Given the description of an element on the screen output the (x, y) to click on. 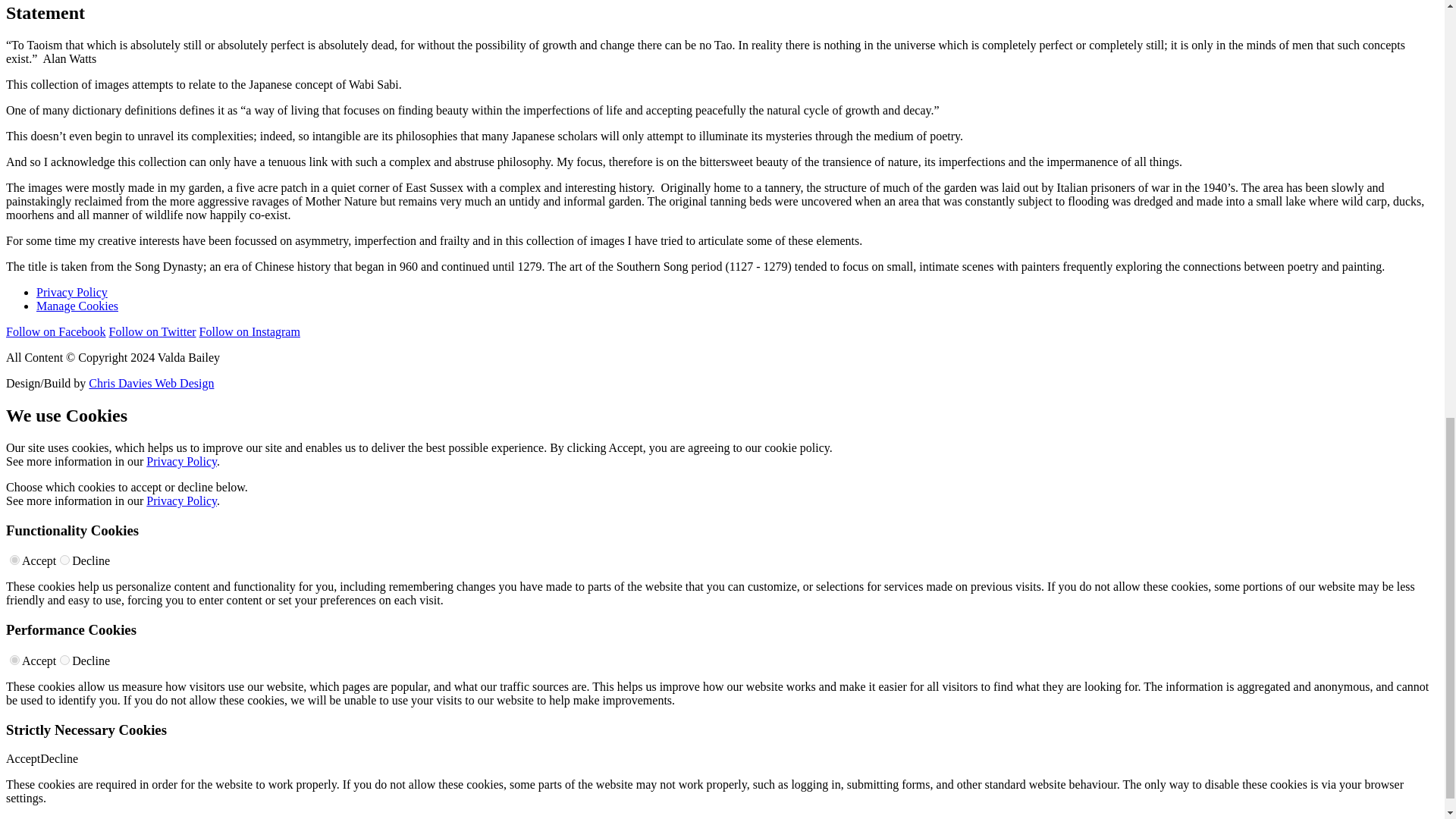
Follow on Twitter (152, 331)
Privacy Policy (181, 461)
Chris Davies Web Design (151, 382)
Privacy Policy (181, 500)
n (64, 660)
y (15, 660)
y (15, 560)
n (64, 560)
Follow on Instagram (249, 331)
Privacy Policy (71, 291)
Follow on Facebook (55, 331)
Manage Cookies (76, 305)
